Given the description of an element on the screen output the (x, y) to click on. 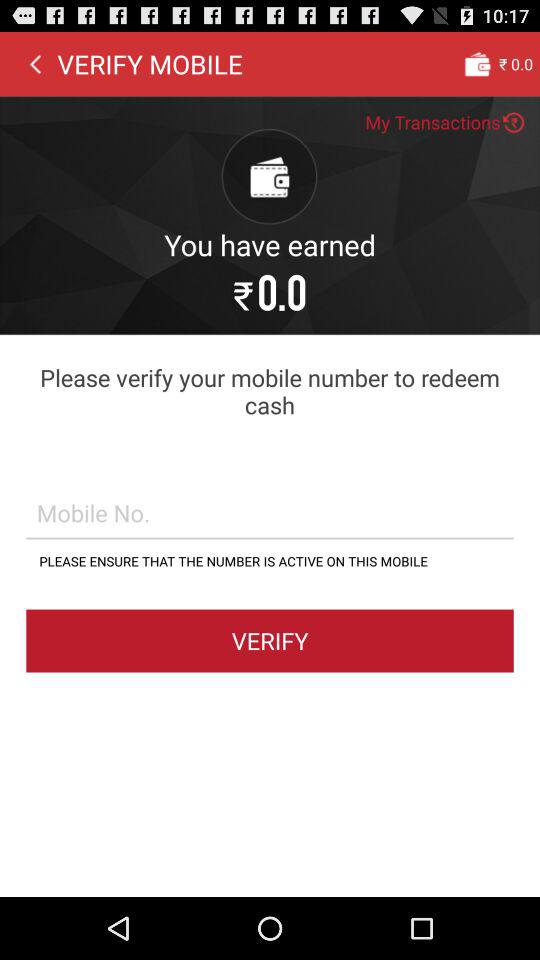
go back (35, 63)
